Given the description of an element on the screen output the (x, y) to click on. 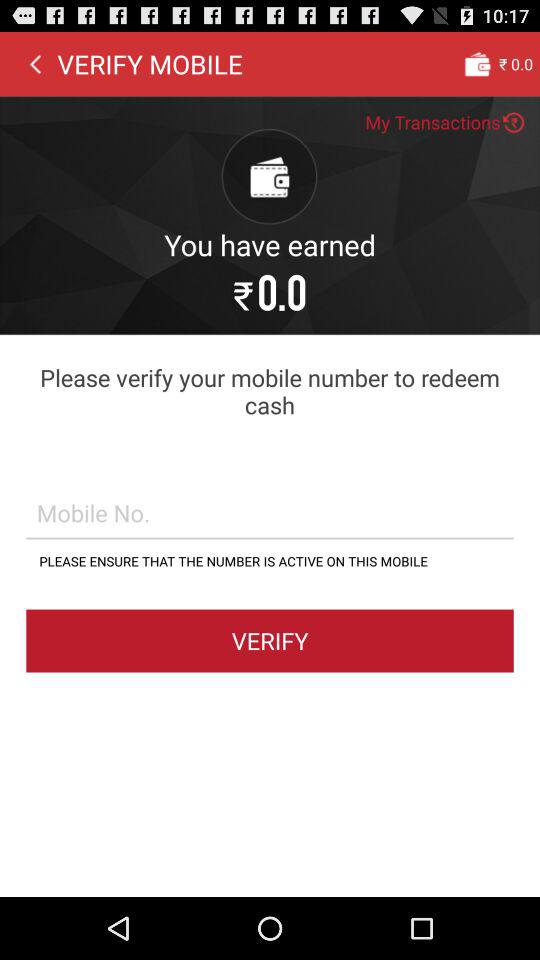
go back (35, 63)
